Given the description of an element on the screen output the (x, y) to click on. 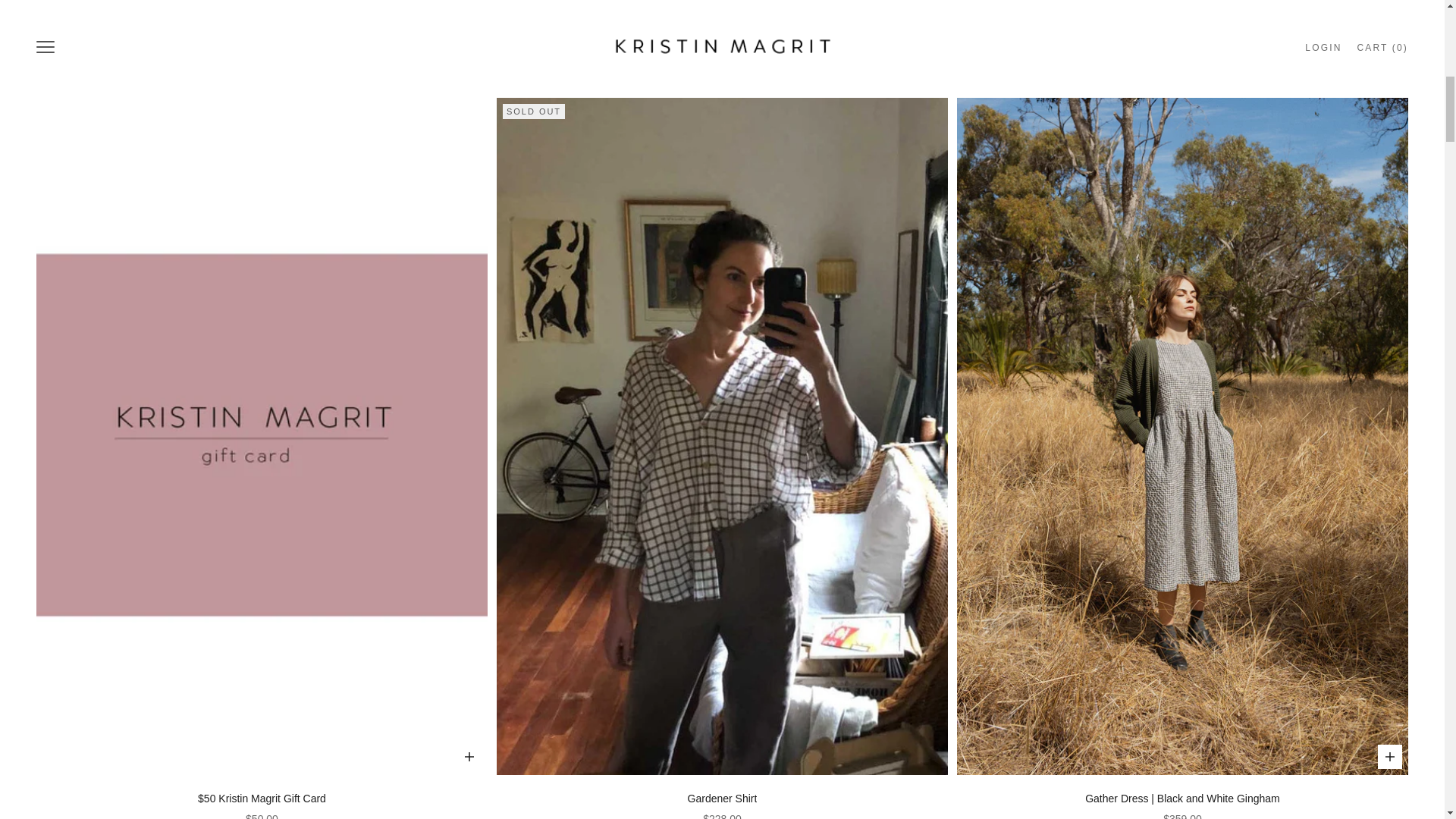
Add to cart (469, 15)
Add to cart (469, 756)
Choose options (1389, 756)
Gardener Shirt (722, 798)
Add to cart (1389, 15)
Add to cart (929, 15)
